Given the description of an element on the screen output the (x, y) to click on. 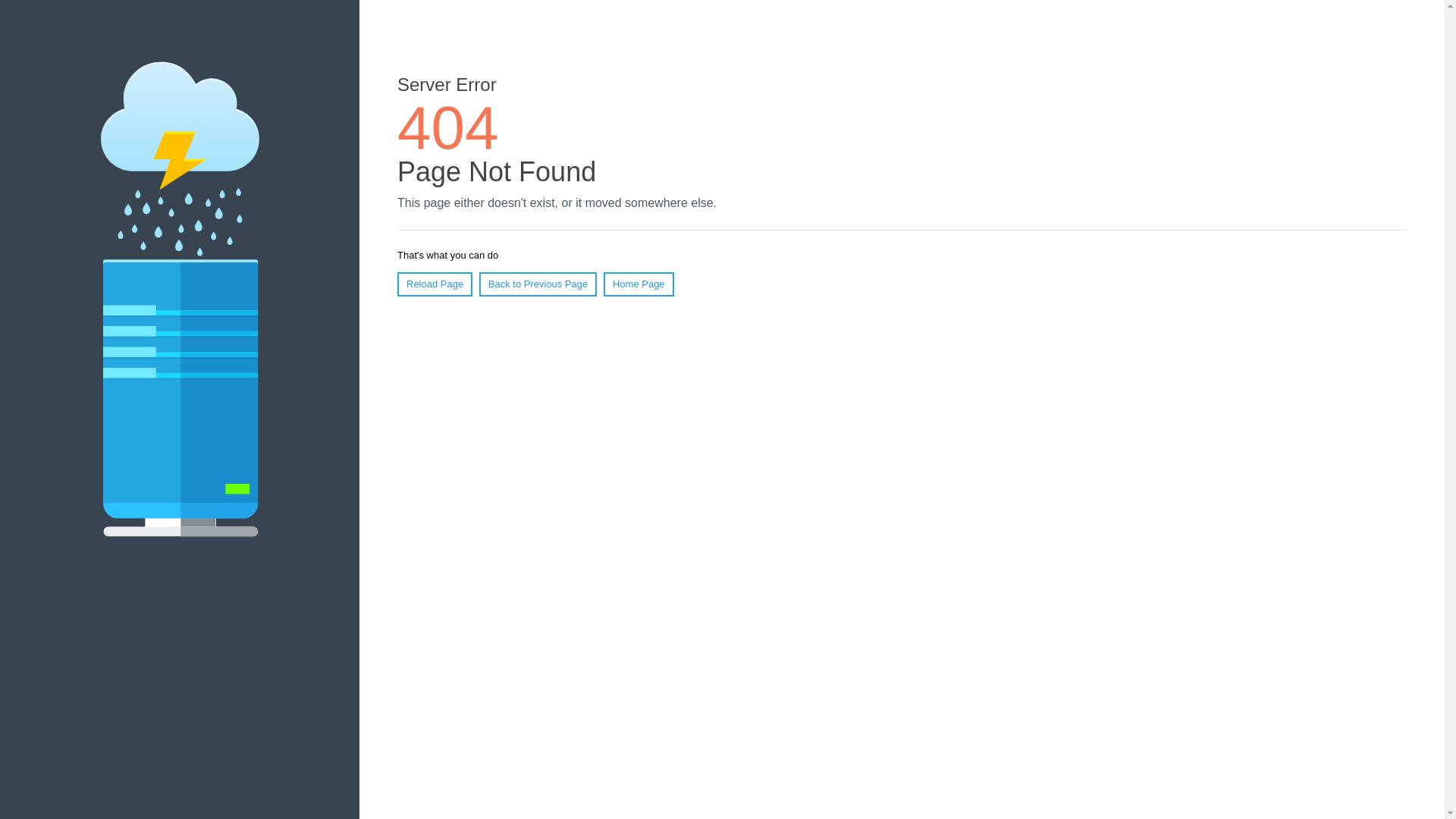
Back to Previous Page Element type: text (538, 284)
Home Page Element type: text (638, 284)
Reload Page Element type: text (434, 284)
